Given the description of an element on the screen output the (x, y) to click on. 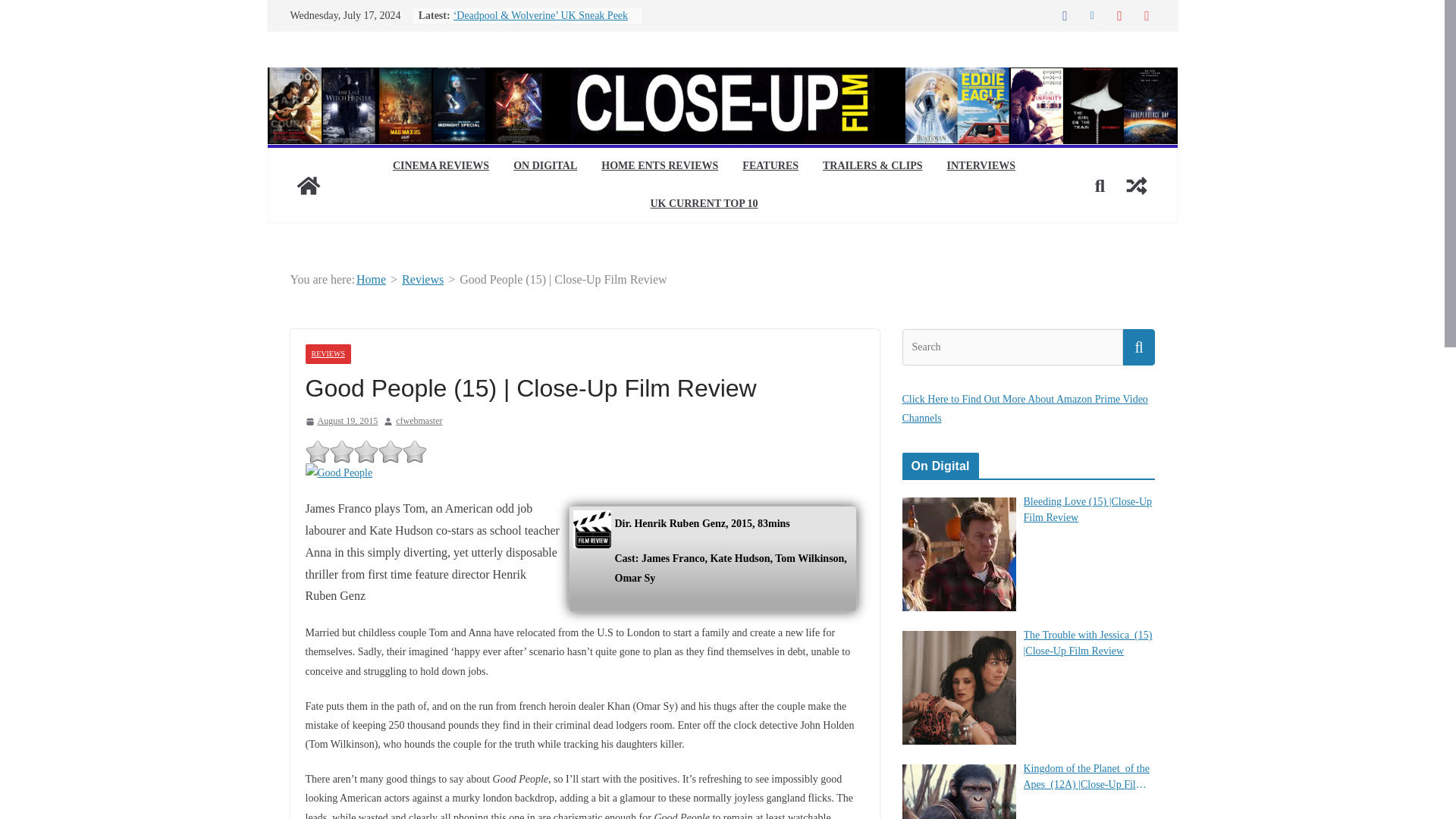
close-upfilm (721, 77)
CINEMA REVIEWS (441, 166)
View a random post (1136, 185)
FEATURES (769, 166)
Home (370, 278)
INTERVIEWS (980, 166)
cfwebmaster (419, 421)
UK CURRENT TOP 10 (704, 204)
Reviews (422, 278)
August 19, 2015 (340, 421)
cfwebmaster (419, 421)
close-upfilm (307, 185)
HOME ENTS REVIEWS (659, 166)
REVIEWS (327, 353)
ON DIGITAL (544, 166)
